Given the description of an element on the screen output the (x, y) to click on. 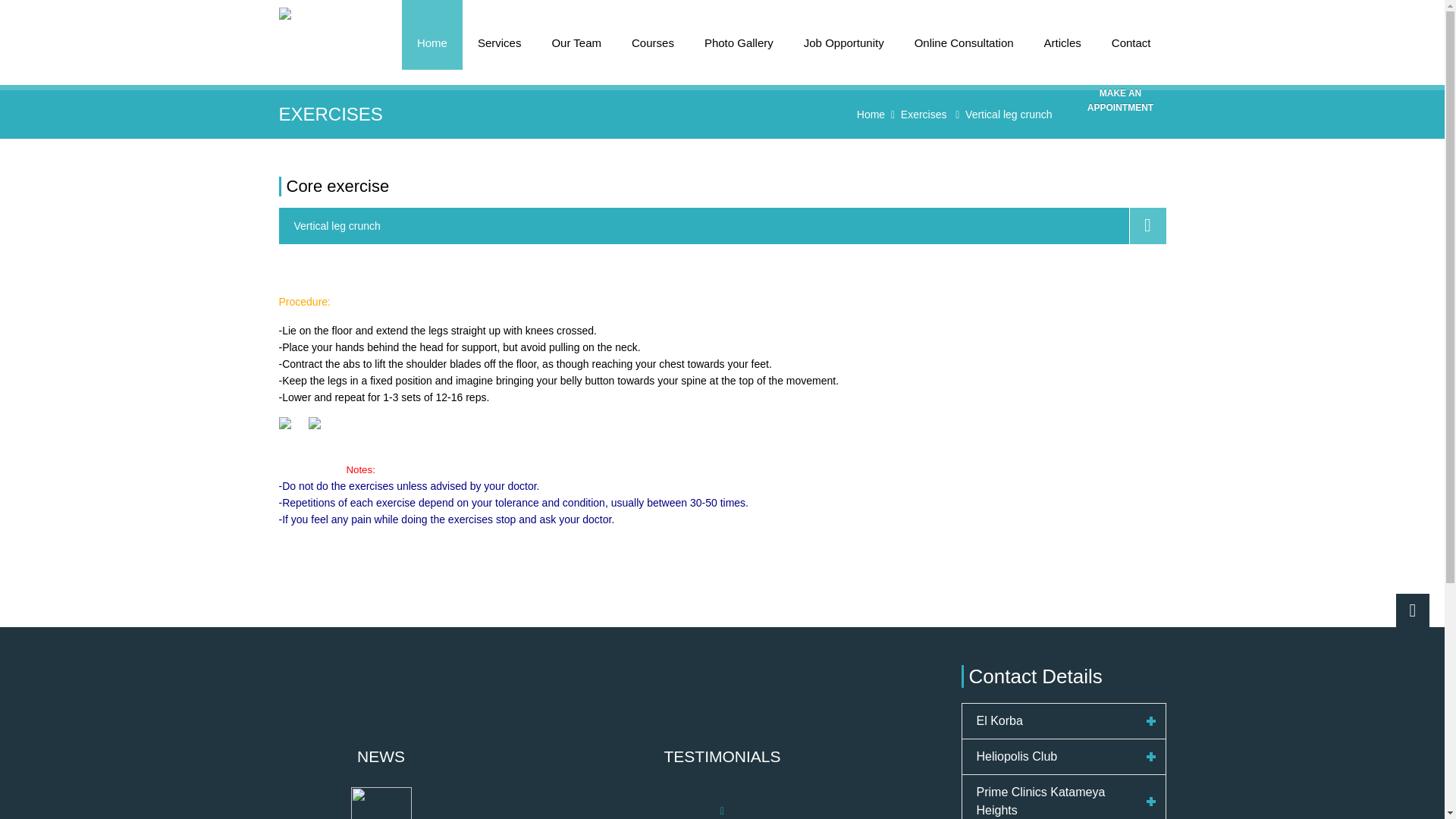
Vertical leg crunch (1008, 114)
MAKE AN APPOINTMENT (1120, 103)
Exercises (924, 114)
Photo Gallery (738, 34)
MAKE AN APPOINTMENT (1120, 50)
Job Opportunity (844, 34)
Our Team (575, 34)
Services (500, 34)
Courses (651, 34)
Core exercise (338, 185)
